Given the description of an element on the screen output the (x, y) to click on. 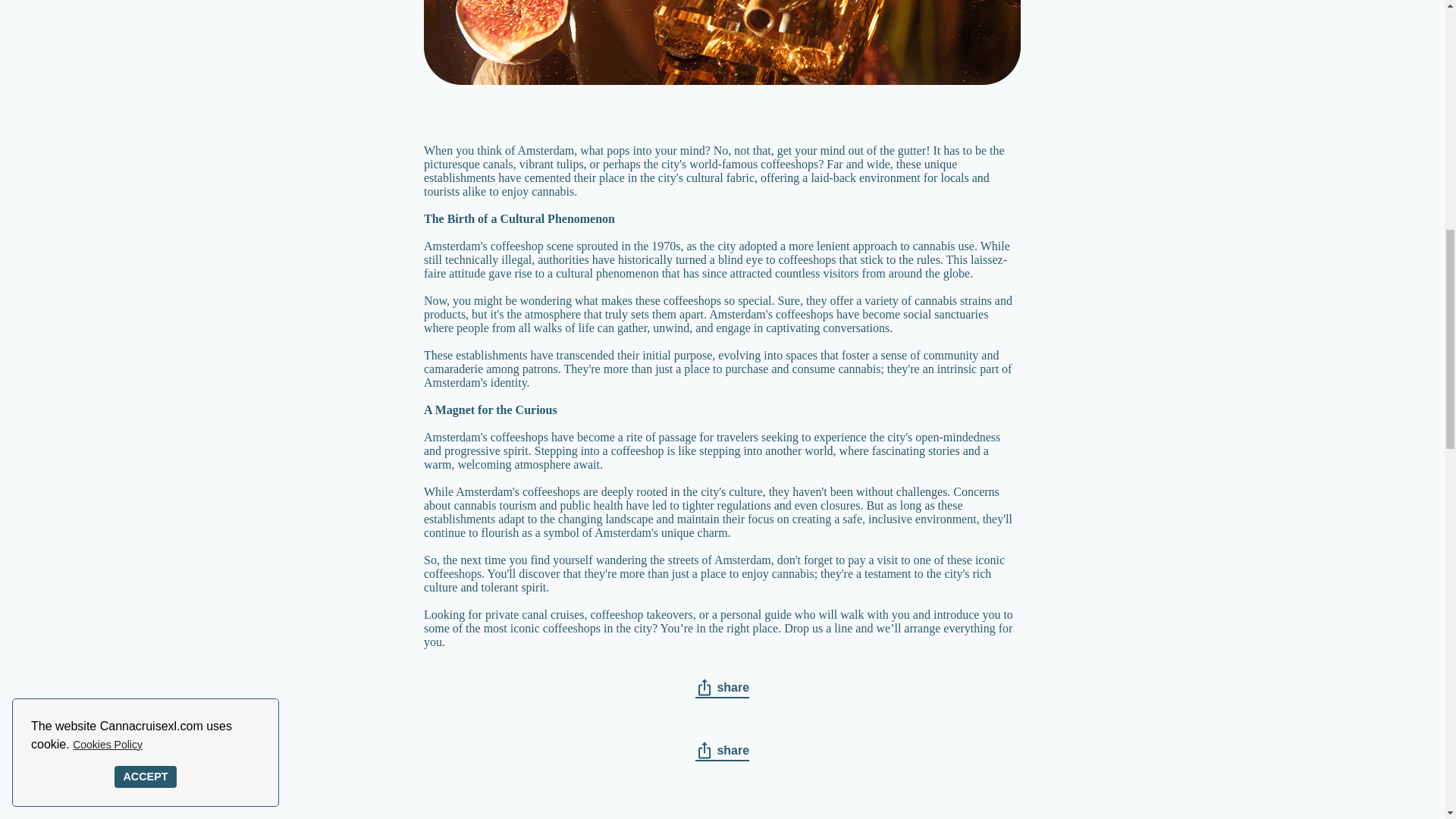
FareHarbor (1342, 64)
share (722, 688)
share (722, 751)
